Given the description of an element on the screen output the (x, y) to click on. 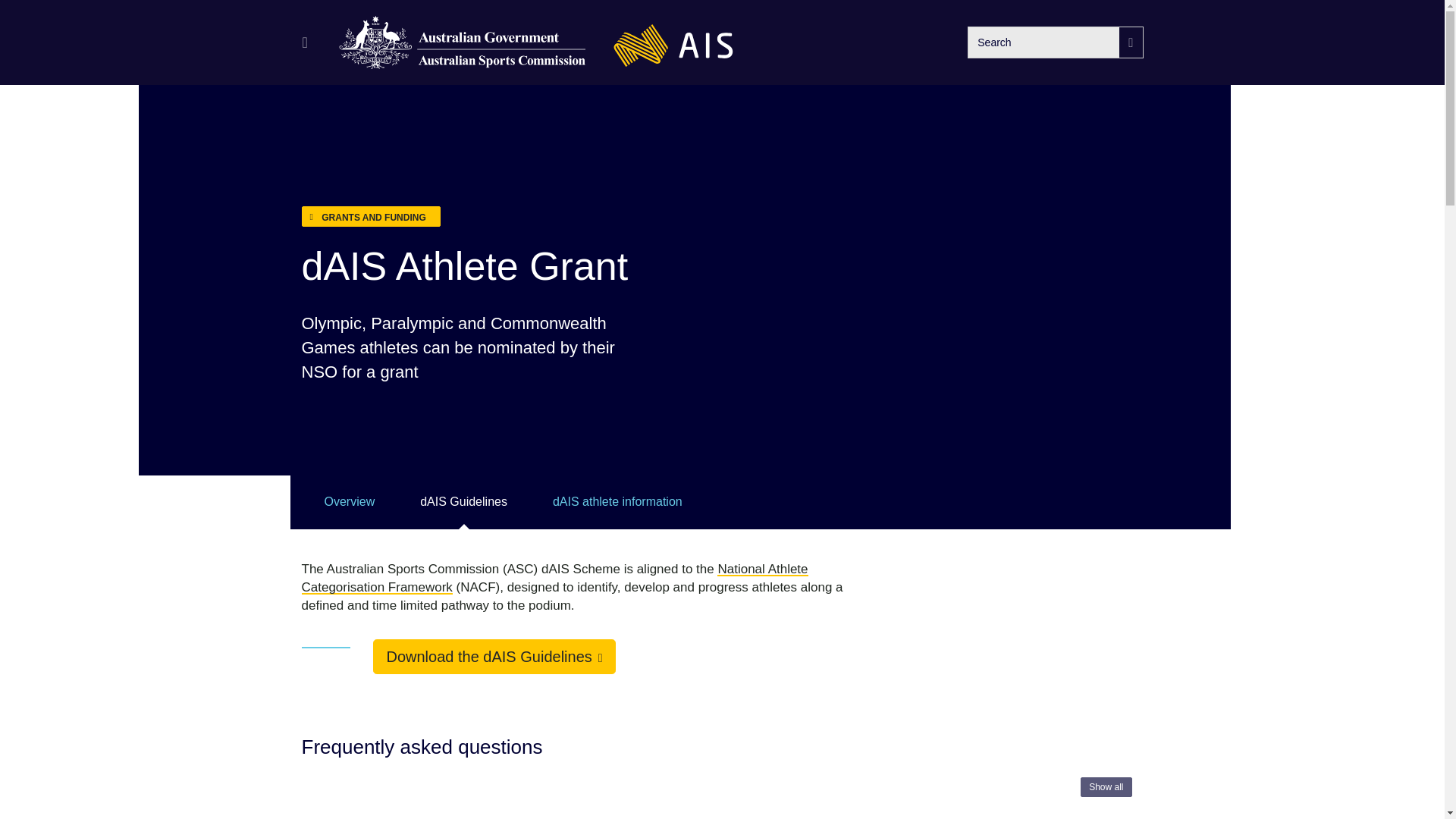
Australian Sports Commission (462, 42)
Australian Institute of Sport (672, 42)
Skip to content (22, 22)
